Given the description of an element on the screen output the (x, y) to click on. 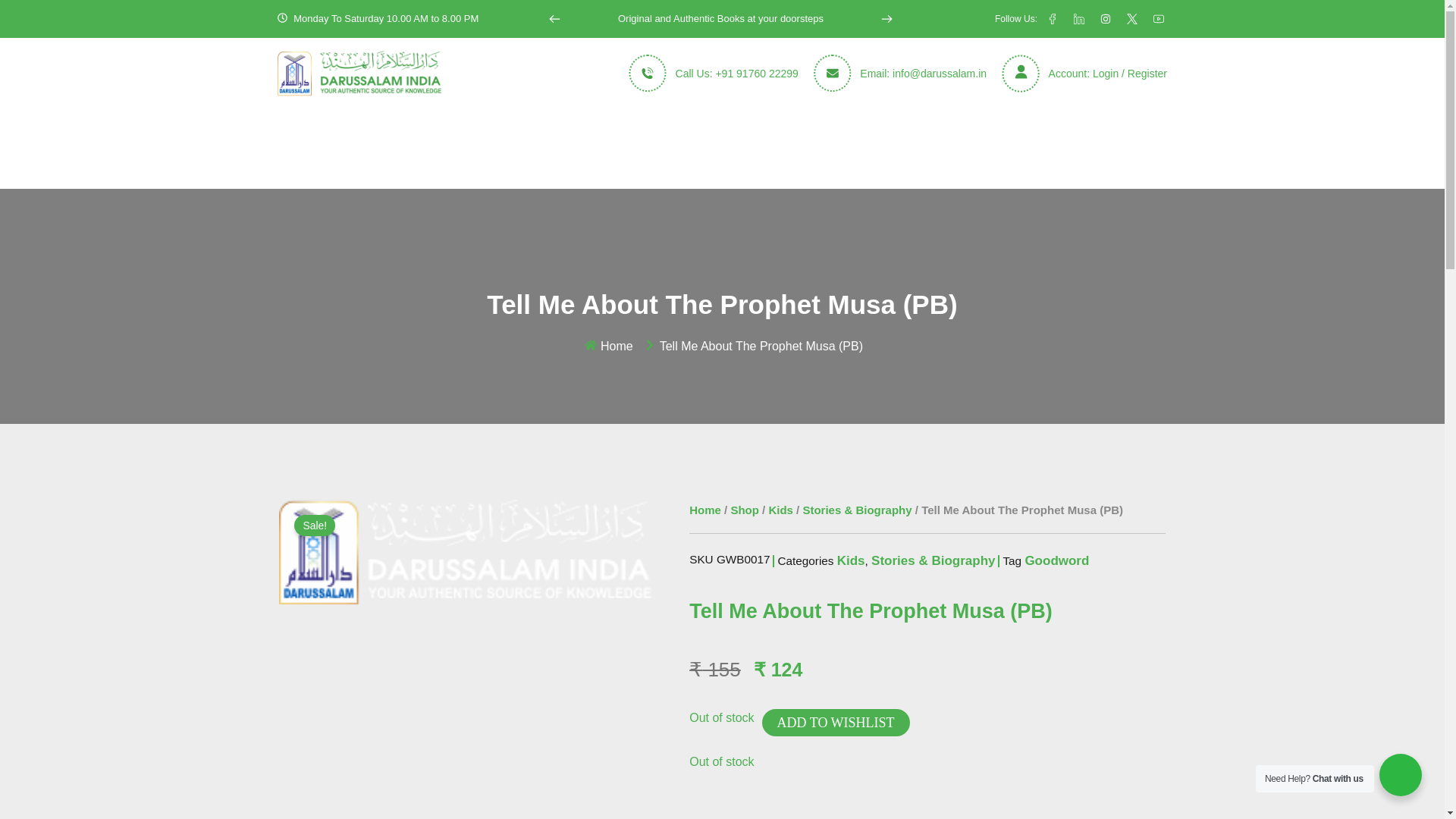
English (497, 130)
Home (289, 130)
Instagram (1105, 18)
